Given the description of an element on the screen output the (x, y) to click on. 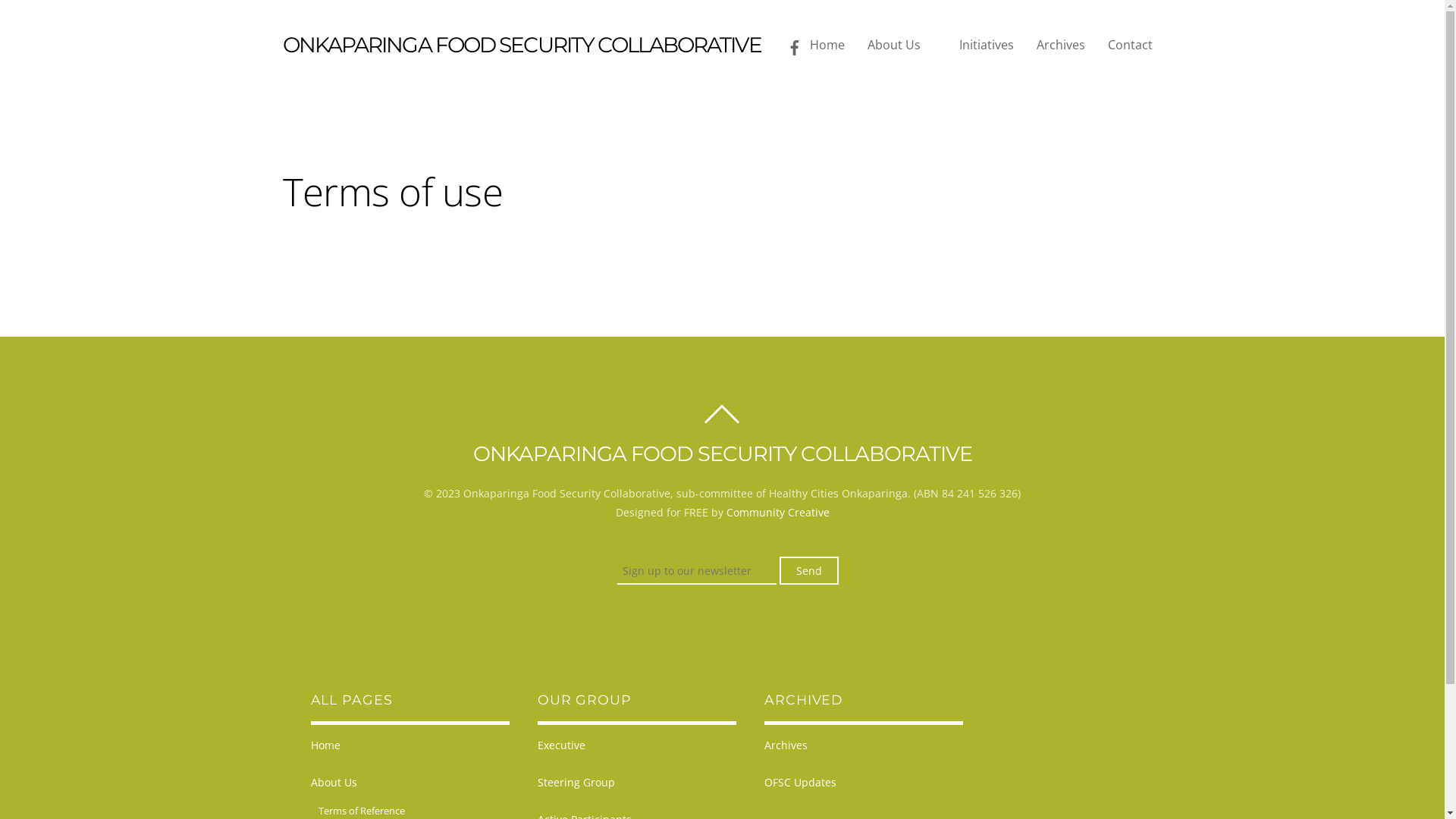
Archives Element type: text (1060, 50)
Archives Element type: text (785, 745)
About Us Element type: text (333, 782)
BACK TO TOP Element type: text (721, 423)
Home Element type: text (325, 745)
About Us Element type: text (901, 50)
Home Element type: text (827, 50)
Send Element type: text (808, 570)
Initiatives Element type: text (985, 50)
ONKAPARINGA FOOD SECURITY COLLABORATIVE Element type: text (521, 44)
Executive Element type: text (561, 745)
Community Creative Element type: text (777, 512)
ONKAPARINGA FOOD SECURITY COLLABORATIVE Element type: text (722, 453)
OFSC Updates Element type: text (800, 782)
Terms of Reference Element type: text (361, 810)
Contact Element type: text (1129, 50)
Steering Group Element type: text (576, 782)
